Given the description of an element on the screen output the (x, y) to click on. 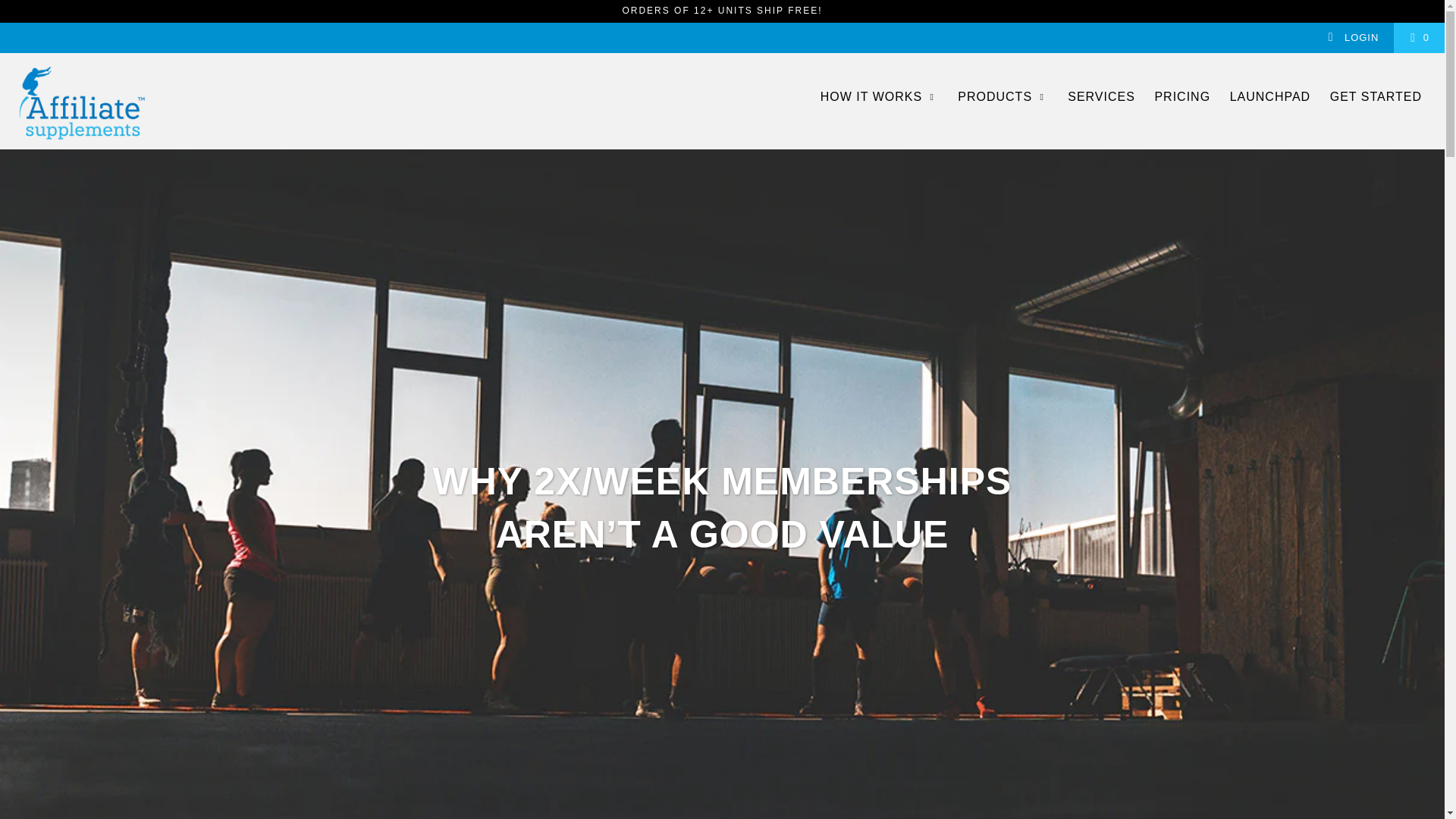
My Account  (1352, 37)
Affiliate Supplements (122, 101)
